Given the description of an element on the screen output the (x, y) to click on. 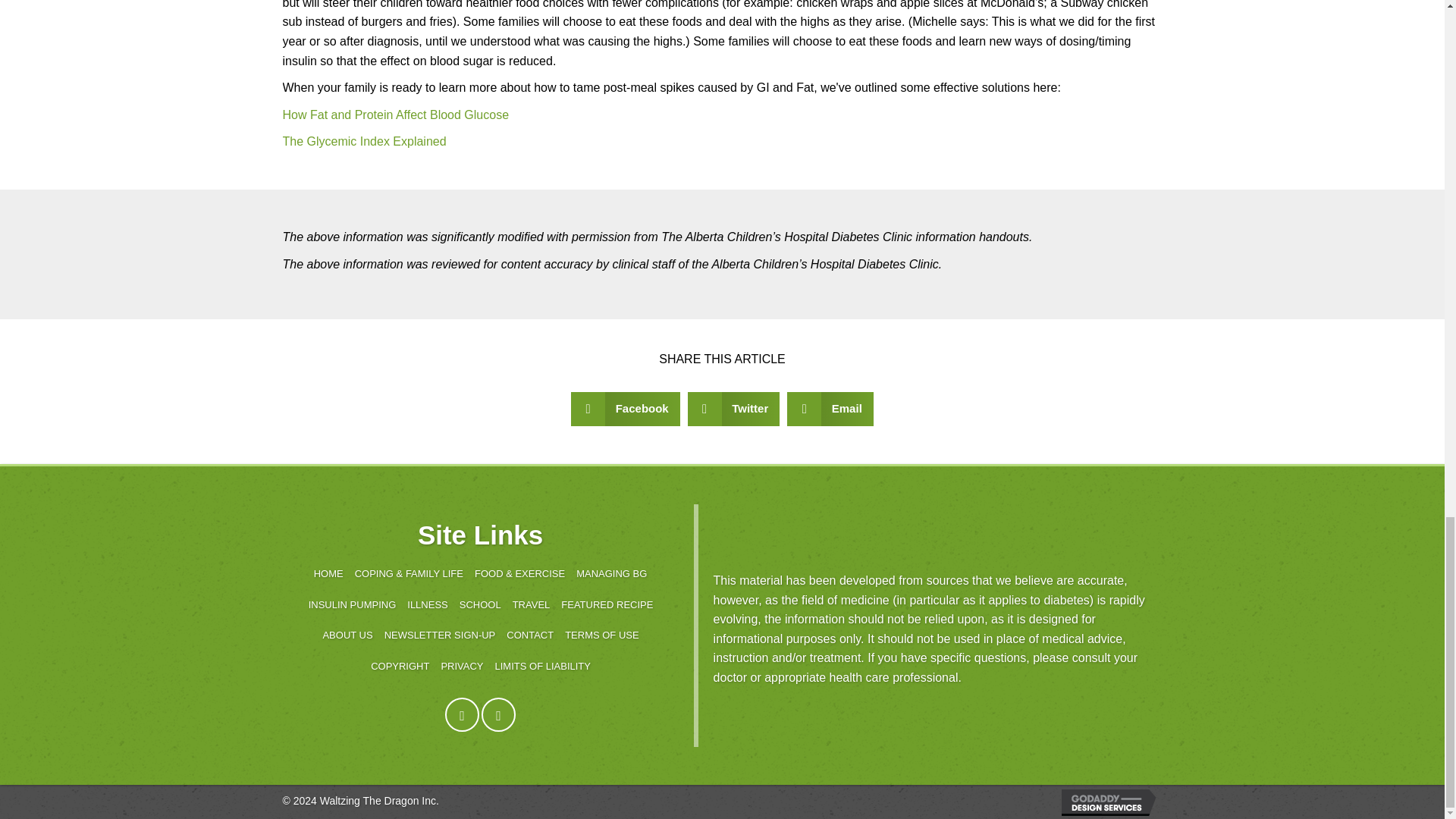
Facebook (462, 714)
Twitter (498, 714)
